Given the description of an element on the screen output the (x, y) to click on. 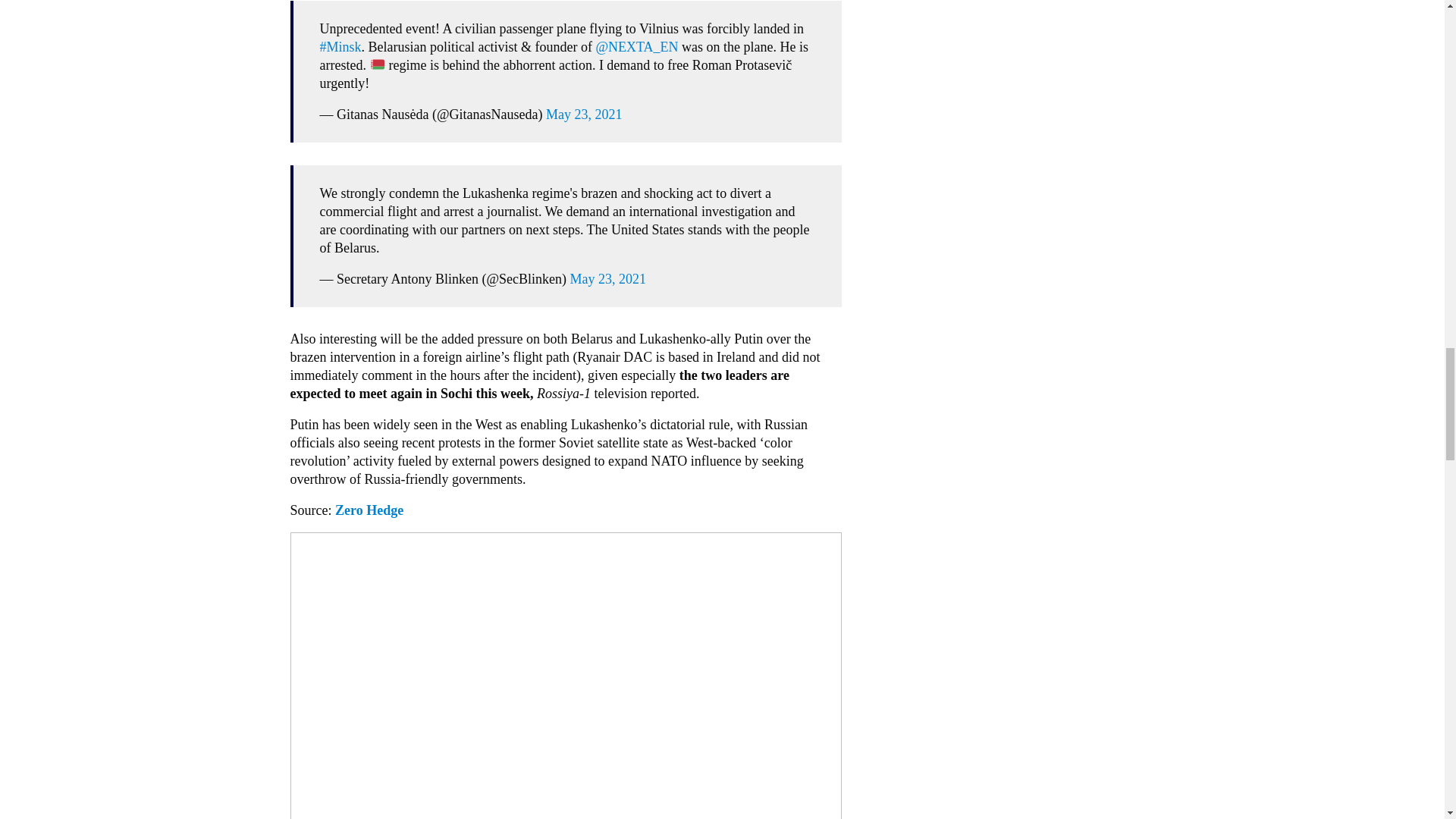
May 23, 2021 (608, 278)
May 23, 2021 (584, 114)
Zero Hedge  (370, 509)
